Given the description of an element on the screen output the (x, y) to click on. 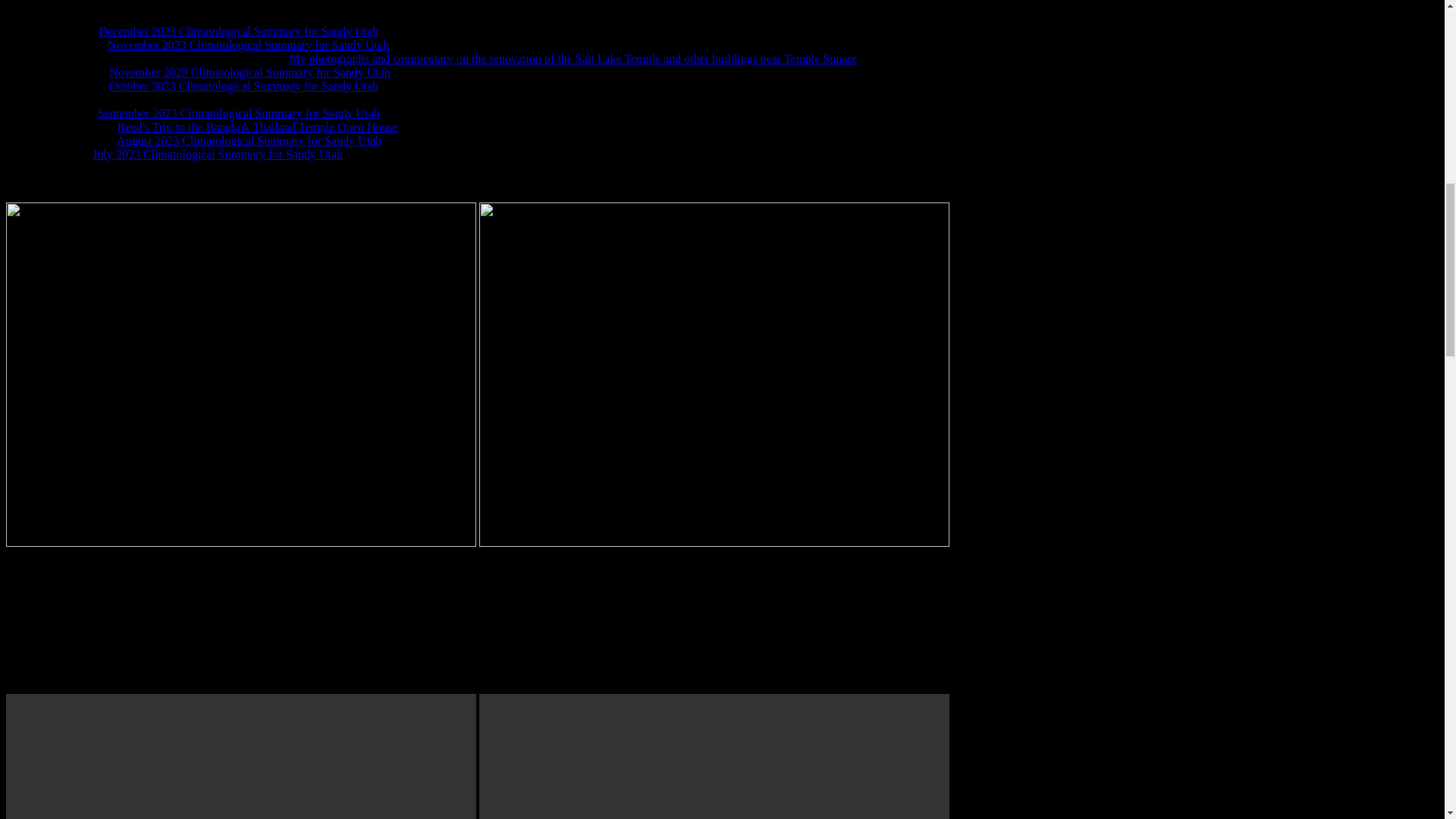
October 2023 Climatological Summary for Sandy Utah (243, 85)
November 2023 Climatological Summary for Sandy Utah (247, 44)
August 2023 Climatological Summary for Sandy Utah (248, 140)
Reed's Trip to the Bangkok Thailand Temple Open House (257, 126)
September 2023 Climatological Summary for Sandy Utah (238, 113)
December 2023 Climatological Summary for Sandy Utah (238, 31)
November 2023 Climatological Summary for Sandy Utah (249, 72)
July 2023 Climatological Summary for Sandy Utah (217, 154)
